Given the description of an element on the screen output the (x, y) to click on. 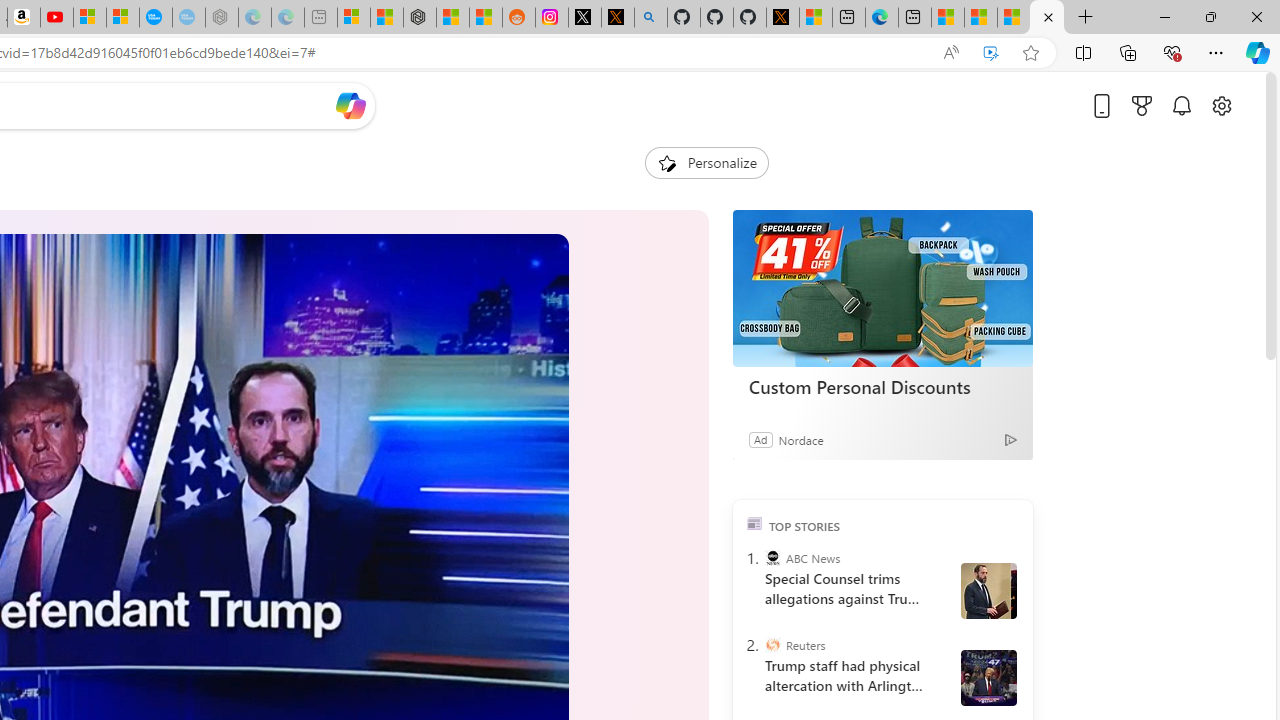
Personalize (706, 162)
Copilot (Ctrl+Shift+.) (1258, 52)
Close (1256, 16)
To get missing image descriptions, open the context menu. (666, 162)
Custom Personal Discounts (882, 288)
Add this page to favorites (Ctrl+D) (1030, 53)
Close tab (1048, 16)
Ad (760, 439)
Open Copilot (351, 105)
help.x.com | 524: A timeout occurred (617, 17)
Nordace - Duffels (420, 17)
